Given the description of an element on the screen output the (x, y) to click on. 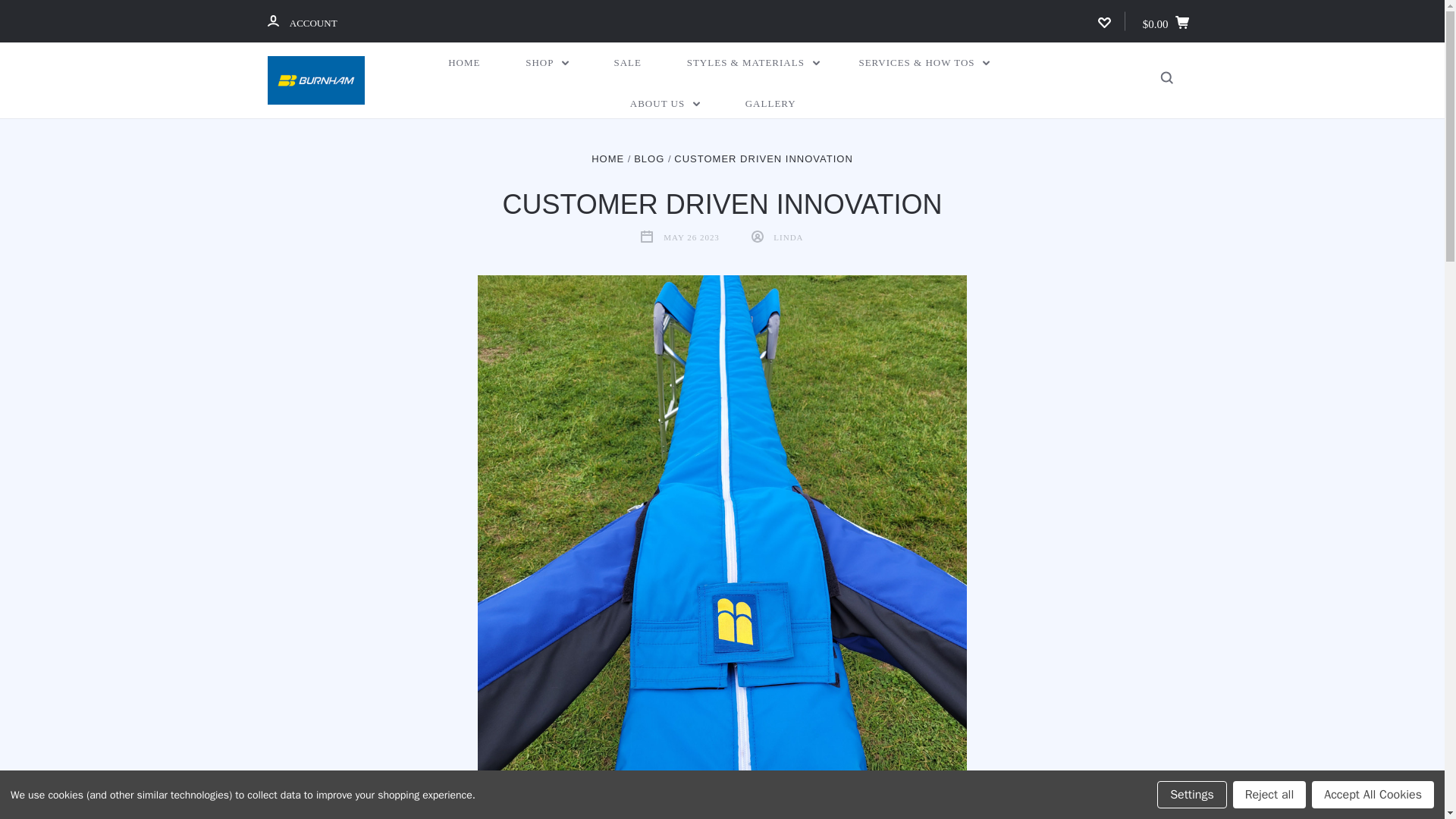
wishlist (1103, 22)
HOME (463, 62)
ACCOUNT (272, 20)
ACCOUNT ACCOUNT (301, 21)
wishlist (1103, 21)
cart (1181, 21)
